Given the description of an element on the screen output the (x, y) to click on. 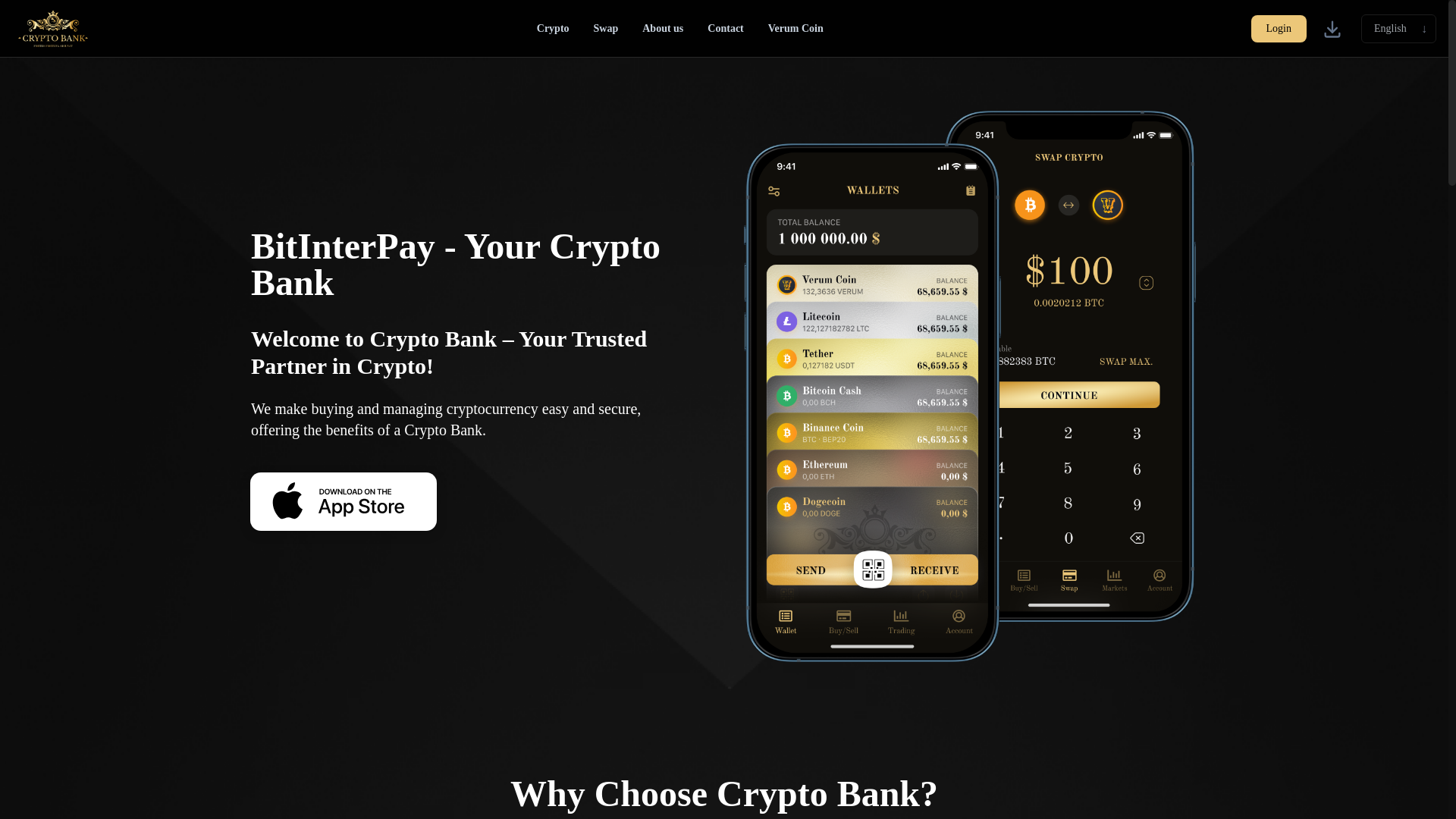
Login (1278, 28)
Verum Coin (795, 28)
About us (662, 28)
Contact (725, 28)
Swap (606, 28)
Crypto (553, 28)
